Given the description of an element on the screen output the (x, y) to click on. 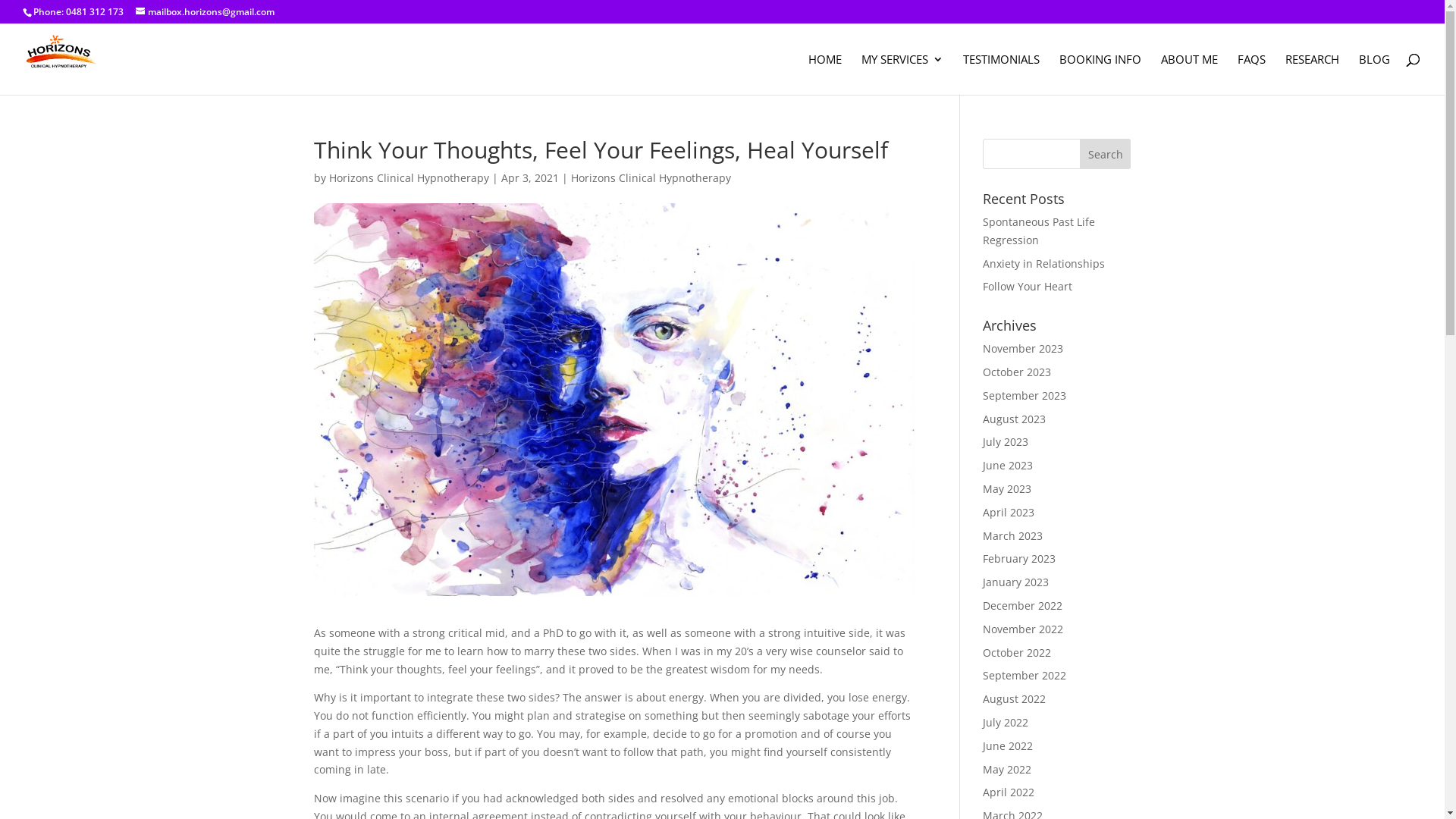
October 2023 Element type: text (1016, 371)
April 2022 Element type: text (1008, 791)
June 2022 Element type: text (1007, 745)
November 2023 Element type: text (1022, 348)
Horizons Clinical Hypnotherapy Element type: text (409, 177)
BLOG Element type: text (1374, 73)
mailbox.horizons@gmail.com Element type: text (204, 11)
Phone: 0481 312 173 Element type: text (78, 11)
TESTIMONIALS Element type: text (1001, 73)
August 2023 Element type: text (1013, 418)
July 2023 Element type: text (1005, 441)
Search Element type: text (1105, 153)
Anxiety in Relationships Element type: text (1043, 263)
HOME Element type: text (824, 73)
December 2022 Element type: text (1022, 605)
Follow Your Heart Element type: text (1027, 286)
FAQS Element type: text (1251, 73)
October 2022 Element type: text (1016, 652)
February 2023 Element type: text (1018, 558)
June 2023 Element type: text (1007, 465)
RESEARCH Element type: text (1312, 73)
BOOKING INFO Element type: text (1100, 73)
Horizons Clinical Hypnotherapy Element type: text (650, 177)
July 2022 Element type: text (1005, 722)
March 2023 Element type: text (1012, 535)
May 2023 Element type: text (1006, 488)
January 2023 Element type: text (1015, 581)
MY SERVICES Element type: text (902, 73)
May 2022 Element type: text (1006, 769)
ABOUT ME Element type: text (1189, 73)
September 2023 Element type: text (1024, 395)
August 2022 Element type: text (1013, 698)
Spontaneous Past Life Regression Element type: text (1038, 230)
April 2023 Element type: text (1008, 512)
September 2022 Element type: text (1024, 675)
November 2022 Element type: text (1022, 628)
